Given the description of an element on the screen output the (x, y) to click on. 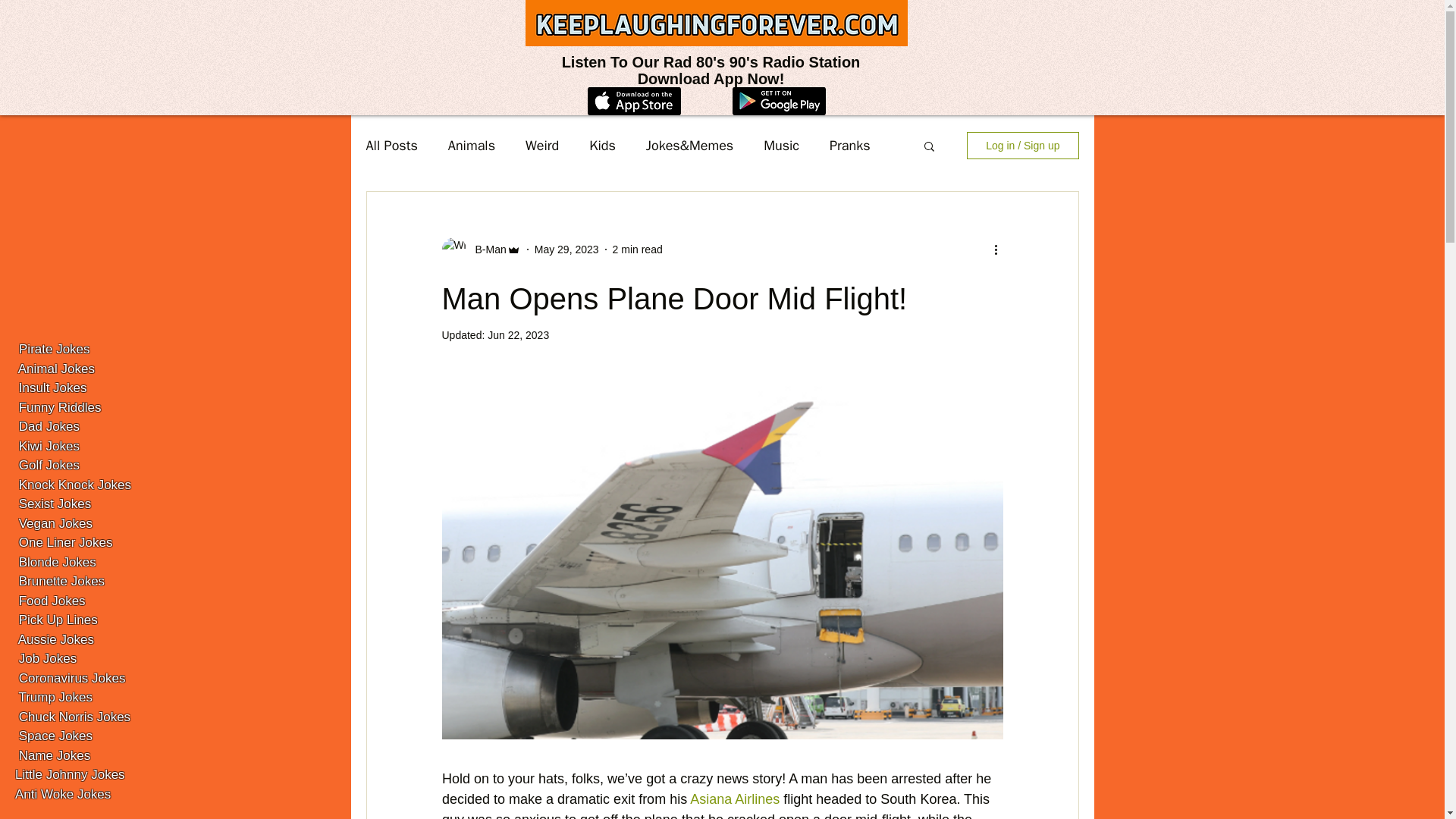
 Funny (34, 407)
All Posts (390, 145)
Pranks (849, 145)
B-Man (485, 248)
Asiana Airlines (734, 798)
Riddles  (79, 407)
May 29, 2023 (566, 248)
 Insult Jokes  (52, 387)
Jun 22, 2023 (517, 335)
2 min read (637, 248)
